Given the description of an element on the screen output the (x, y) to click on. 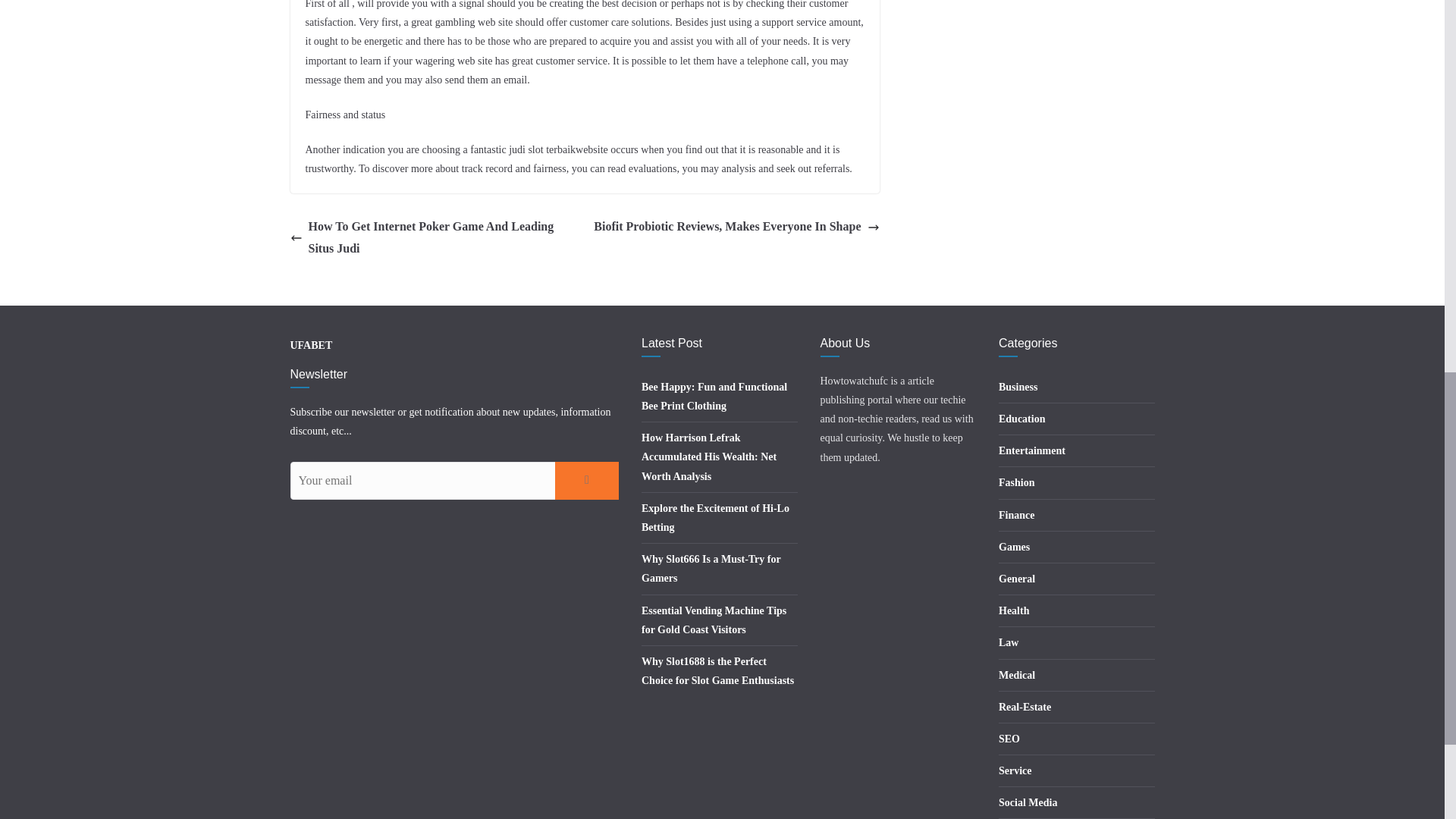
Law (1007, 642)
How To Get Internet Poker Game And Leading Situs Judi (432, 238)
UFABET (310, 345)
Social Media (1027, 802)
Biofit Probiotic Reviews, Makes Everyone In Shape (736, 227)
Games (1013, 546)
General (1016, 578)
Why Slot1688 is the Perfect Choice for Slot Game Enthusiasts (717, 671)
Explore the Excitement of Hi-Lo Betting (715, 517)
Education (1021, 419)
